Given the description of an element on the screen output the (x, y) to click on. 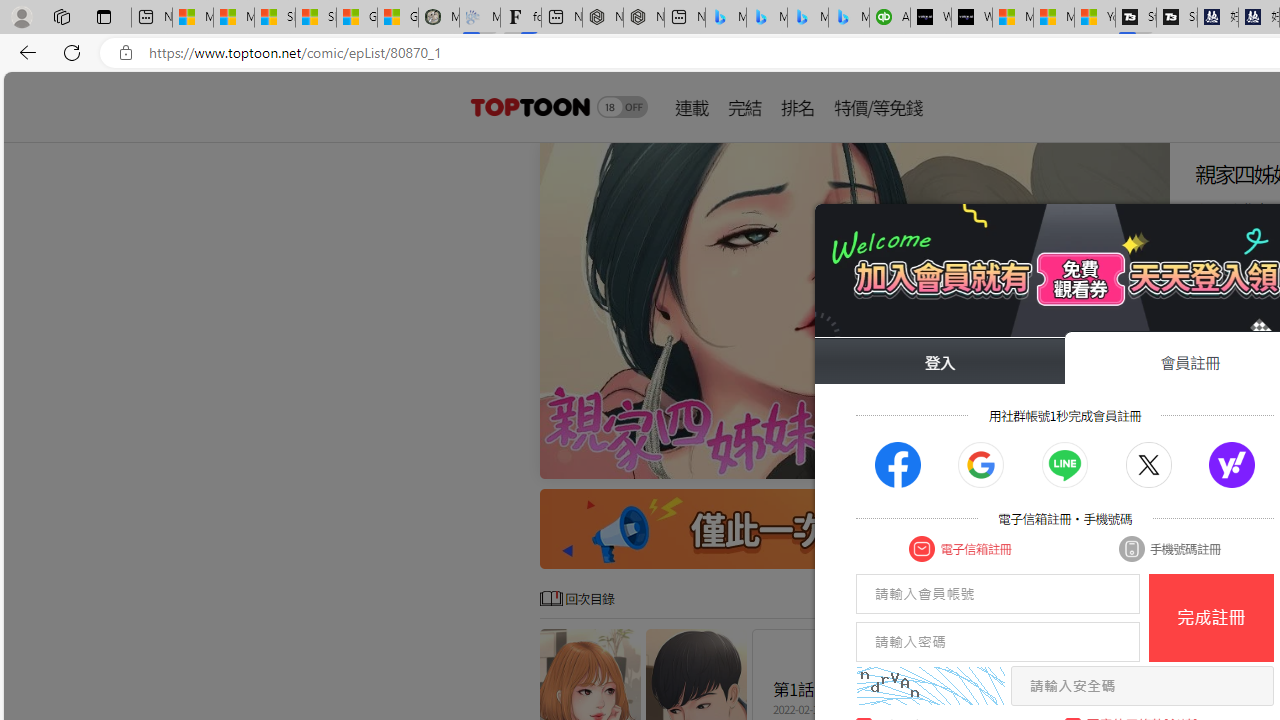
Nordace - #1 Japanese Best-Seller - Siena Smart Backpack (643, 17)
